Given the description of an element on the screen output the (x, y) to click on. 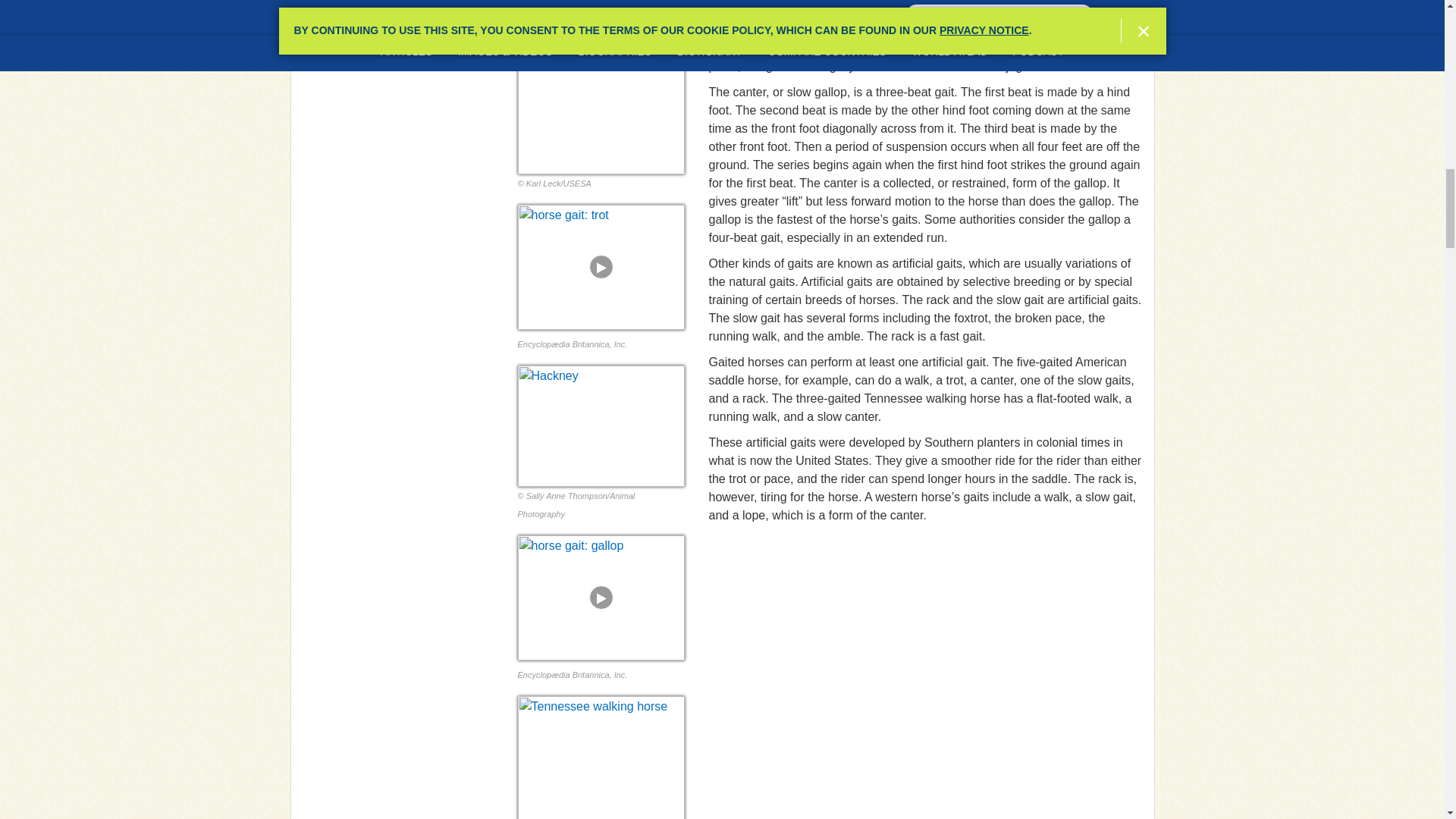
Tennessee walking horse (600, 757)
horse gait: trot (600, 267)
horse gait: gallop (600, 597)
Hackney (600, 425)
Hanoverian: canter (600, 104)
